Given the description of an element on the screen output the (x, y) to click on. 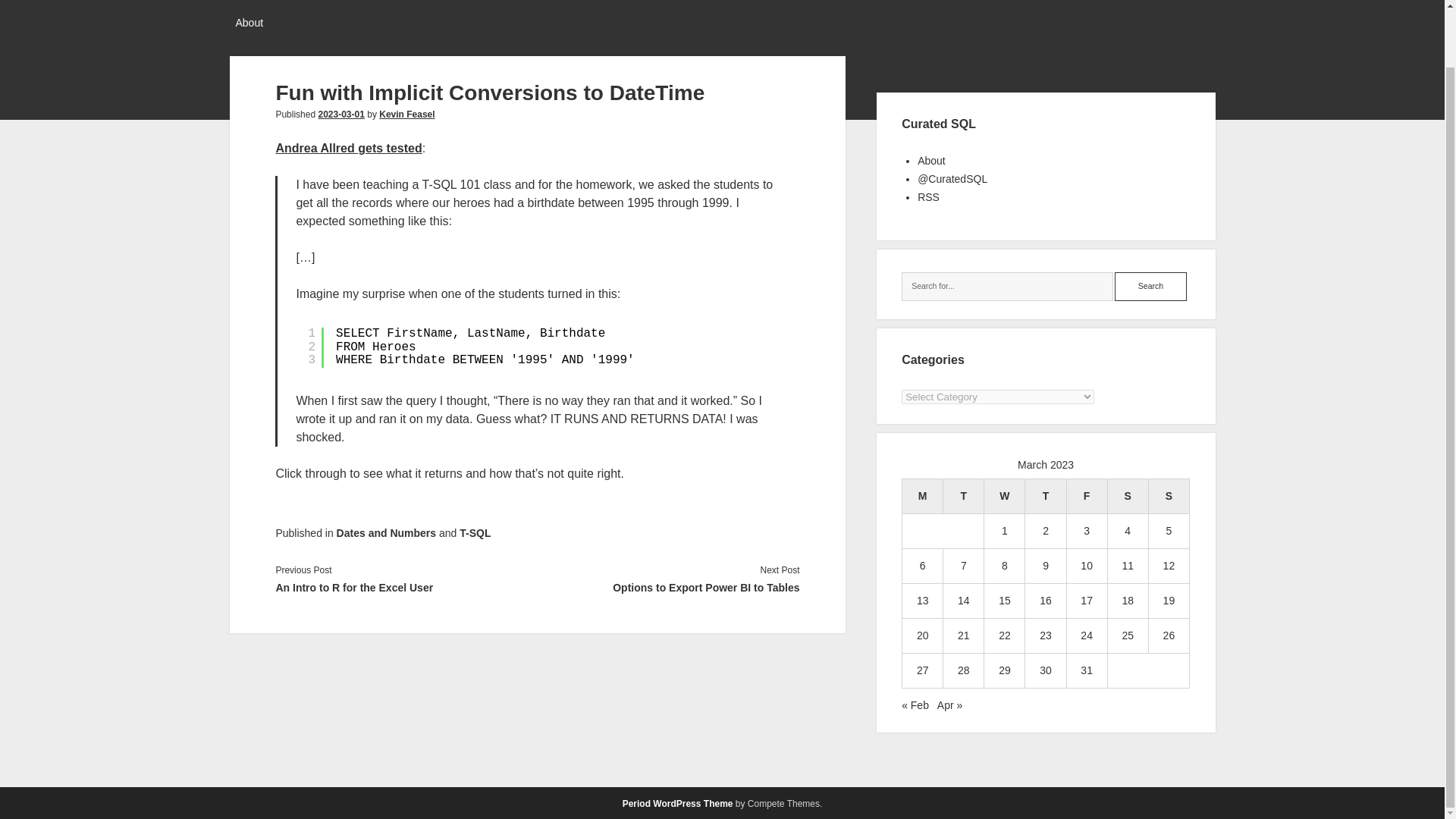
Andrea Allred gets tested (348, 147)
Wednesday (1004, 495)
31 (1086, 670)
View all posts in Dates and Numbers (385, 532)
Options to Export Power BI to Tables (668, 587)
RSS (928, 196)
Dates and Numbers (385, 532)
About (248, 23)
View all posts in T-SQL (475, 532)
An Intro to R for the Excel User (406, 587)
